Given the description of an element on the screen output the (x, y) to click on. 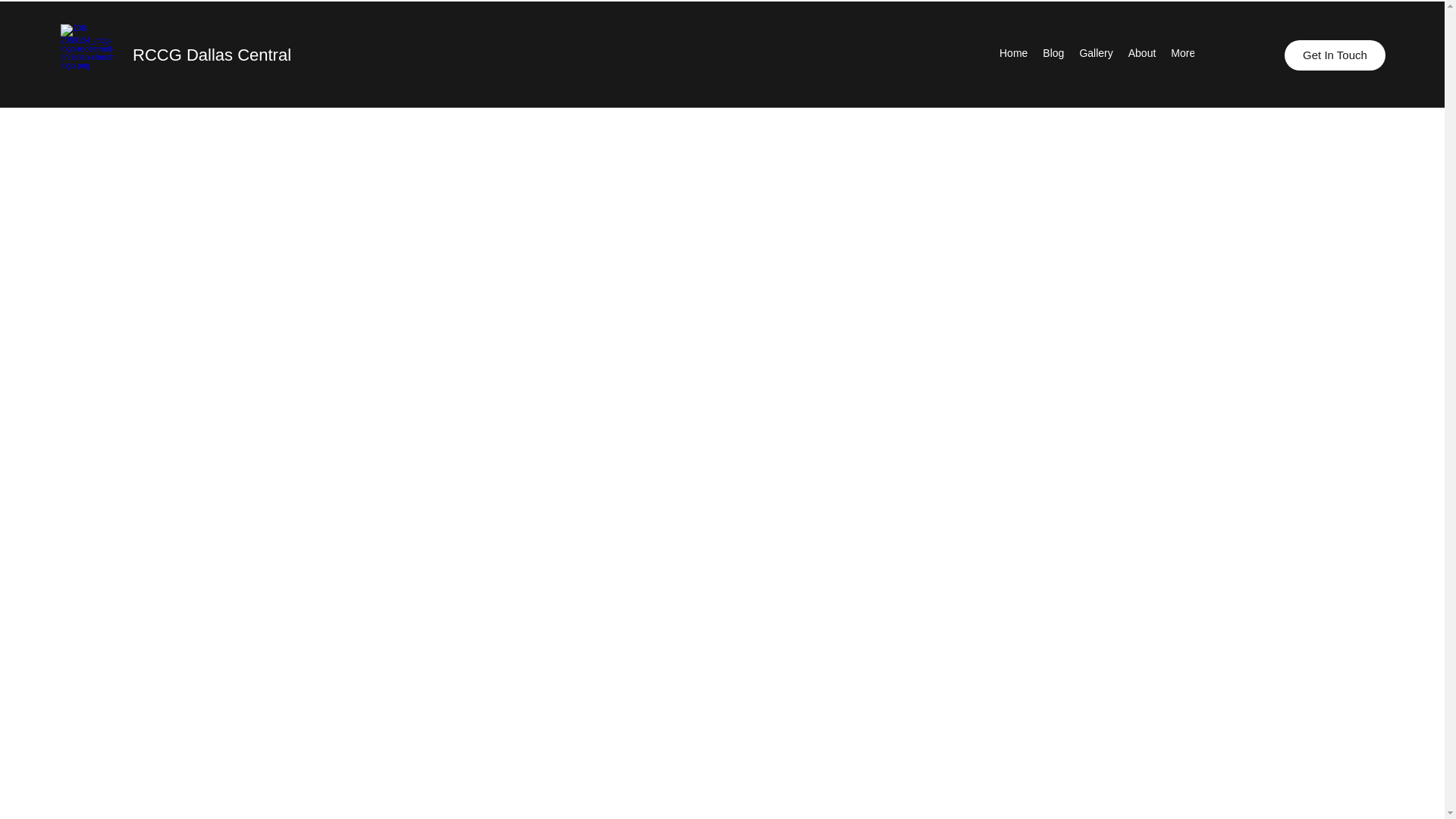
Get In Touch (1335, 55)
Gallery (1095, 55)
RCCG Dallas Central (211, 54)
Home (1013, 55)
Blog (1053, 55)
About (1142, 55)
